Given the description of an element on the screen output the (x, y) to click on. 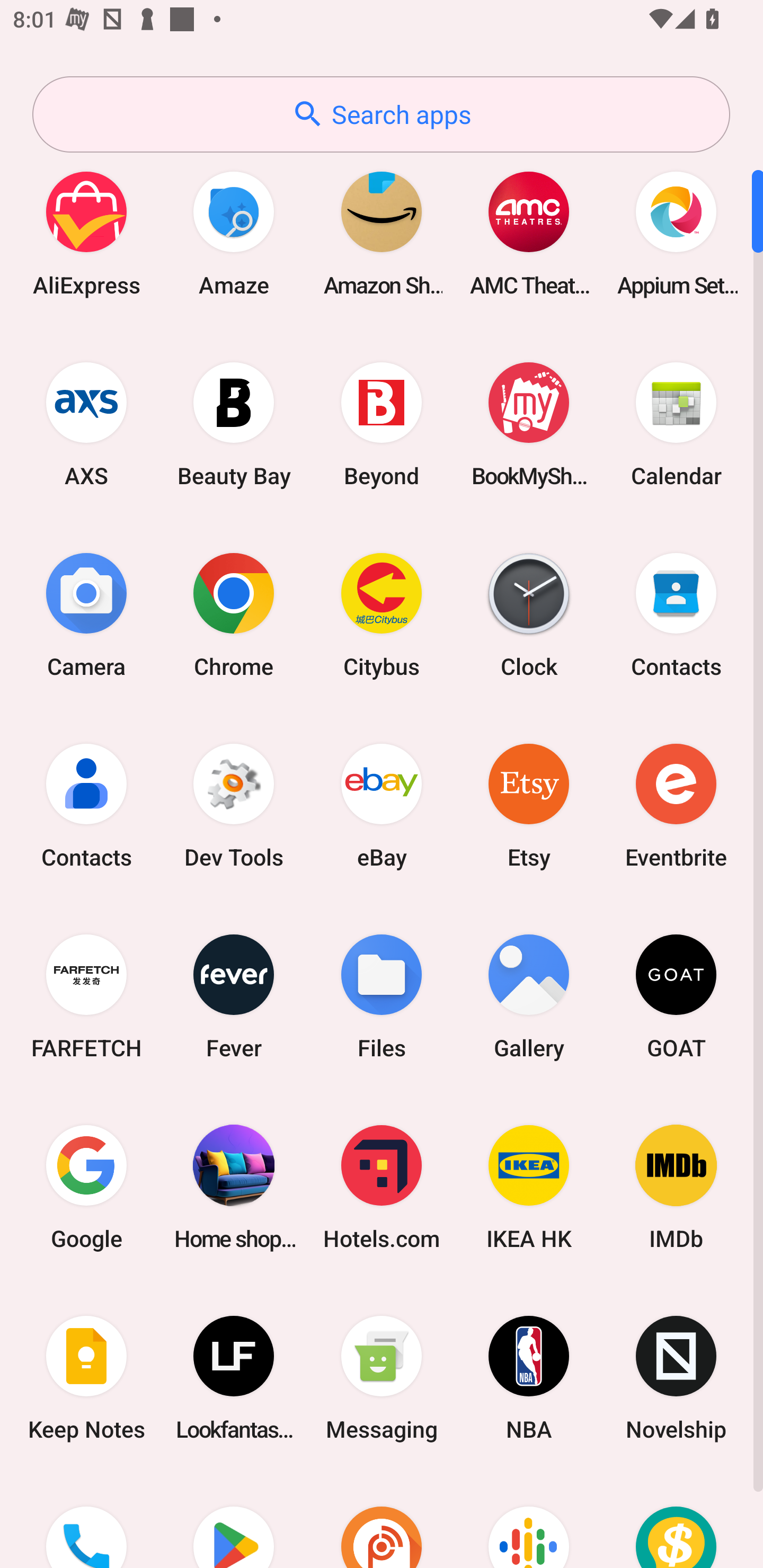
  Search apps (381, 114)
AliExpress (86, 233)
Amaze (233, 233)
Amazon Shopping (381, 233)
AMC Theatres (528, 233)
Appium Settings (676, 233)
AXS (86, 424)
Beauty Bay (233, 424)
Beyond (381, 424)
BookMyShow (528, 424)
Calendar (676, 424)
Camera (86, 614)
Chrome (233, 614)
Citybus (381, 614)
Clock (528, 614)
Contacts (676, 614)
Contacts (86, 805)
Dev Tools (233, 805)
eBay (381, 805)
Etsy (528, 805)
Eventbrite (676, 805)
FARFETCH (86, 996)
Fever (233, 996)
Files (381, 996)
Gallery (528, 996)
GOAT (676, 996)
Google (86, 1186)
Home shopping (233, 1186)
Hotels.com (381, 1186)
IKEA HK (528, 1186)
IMDb (676, 1186)
Keep Notes (86, 1377)
Lookfantastic (233, 1377)
Messaging (381, 1377)
NBA (528, 1377)
Novelship (676, 1377)
Phone (86, 1520)
Play Store (233, 1520)
Podcast Addict (381, 1520)
Podcasts (528, 1520)
Price (676, 1520)
